Given the description of an element on the screen output the (x, y) to click on. 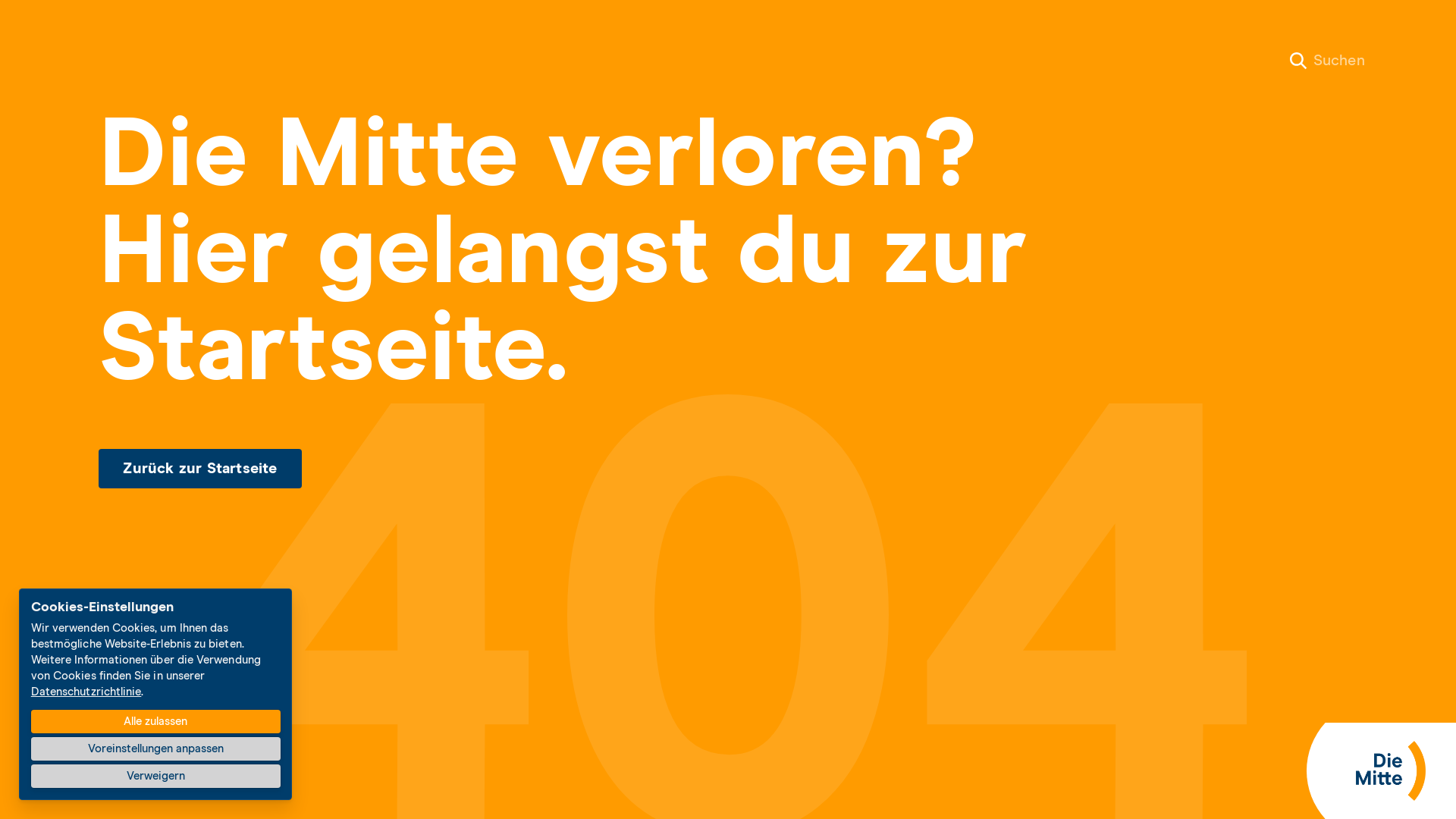
Alle zulassen Element type: text (155, 721)
Voreinstellungen anpassen Element type: text (155, 748)
Verweigern Element type: text (155, 775)
Datenschutzrichtlinie Element type: text (86, 691)
